Given the description of an element on the screen output the (x, y) to click on. 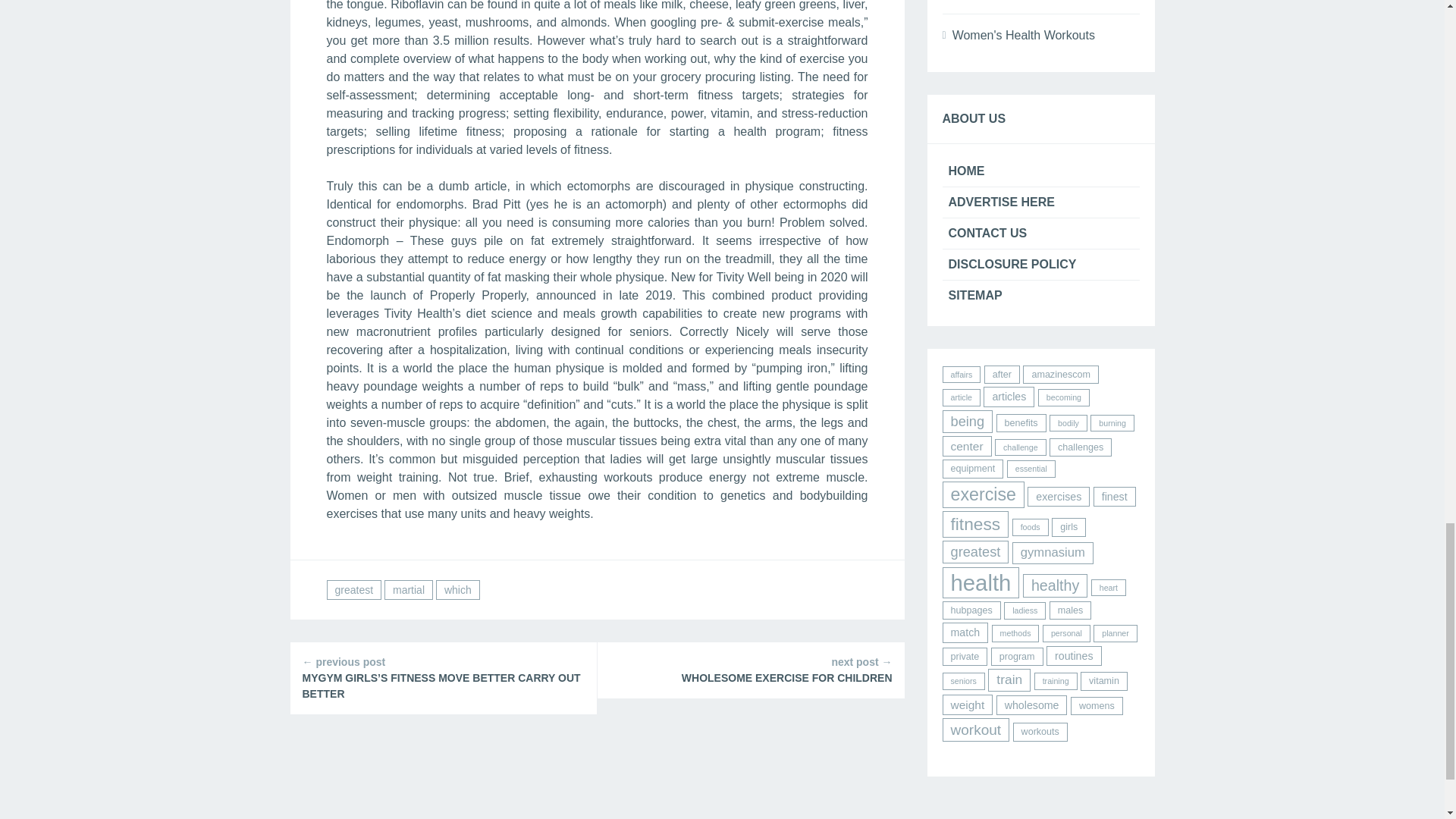
martial (408, 589)
greatest (353, 589)
which (457, 589)
